Given the description of an element on the screen output the (x, y) to click on. 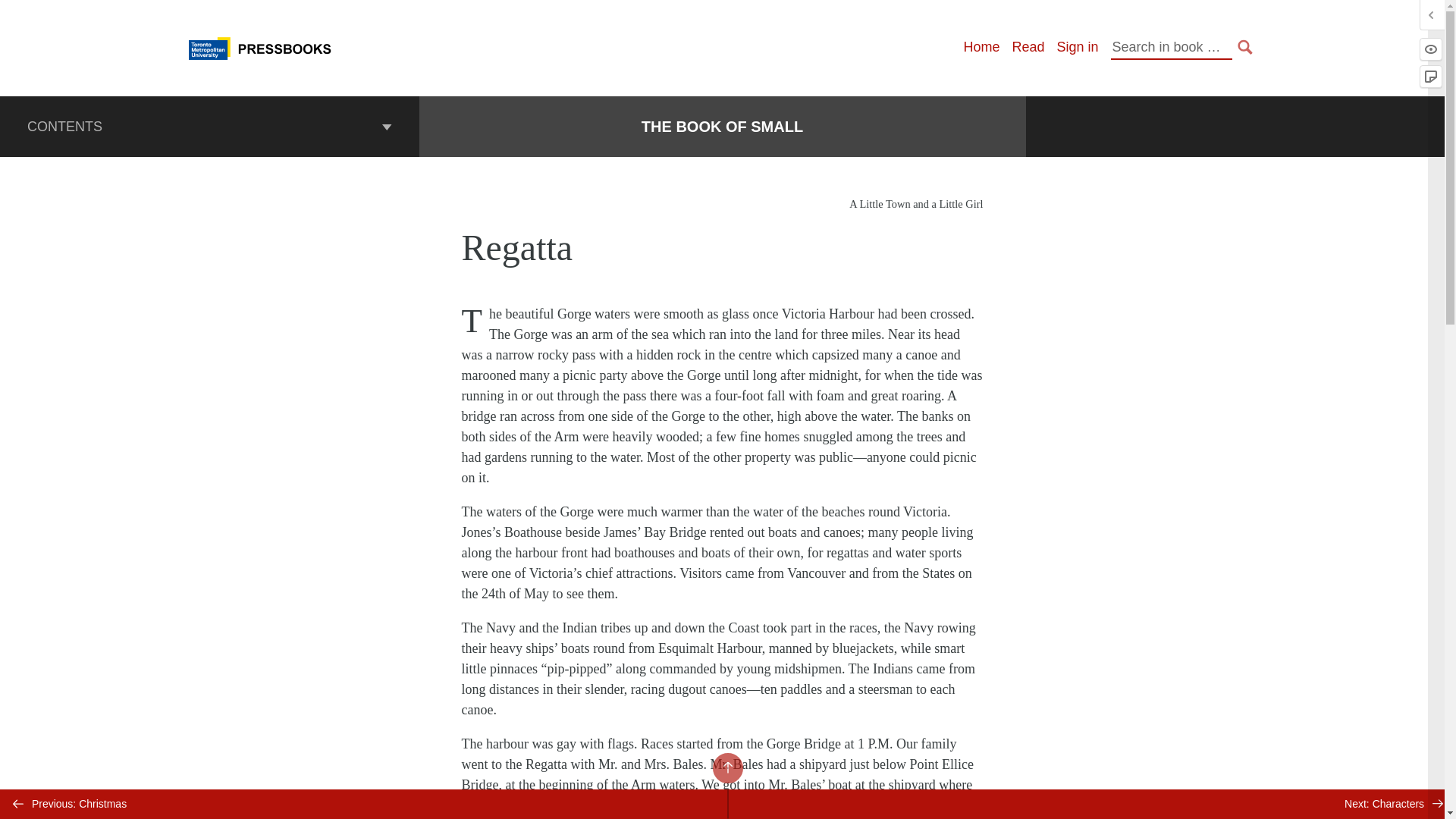
THE BOOK OF SMALL (722, 126)
Previous: Christmas (364, 804)
BACK TO TOP (727, 767)
Sign in (1077, 46)
Previous: Christmas (364, 804)
Home (980, 46)
CONTENTS (209, 126)
Read (1027, 46)
